Given the description of an element on the screen output the (x, y) to click on. 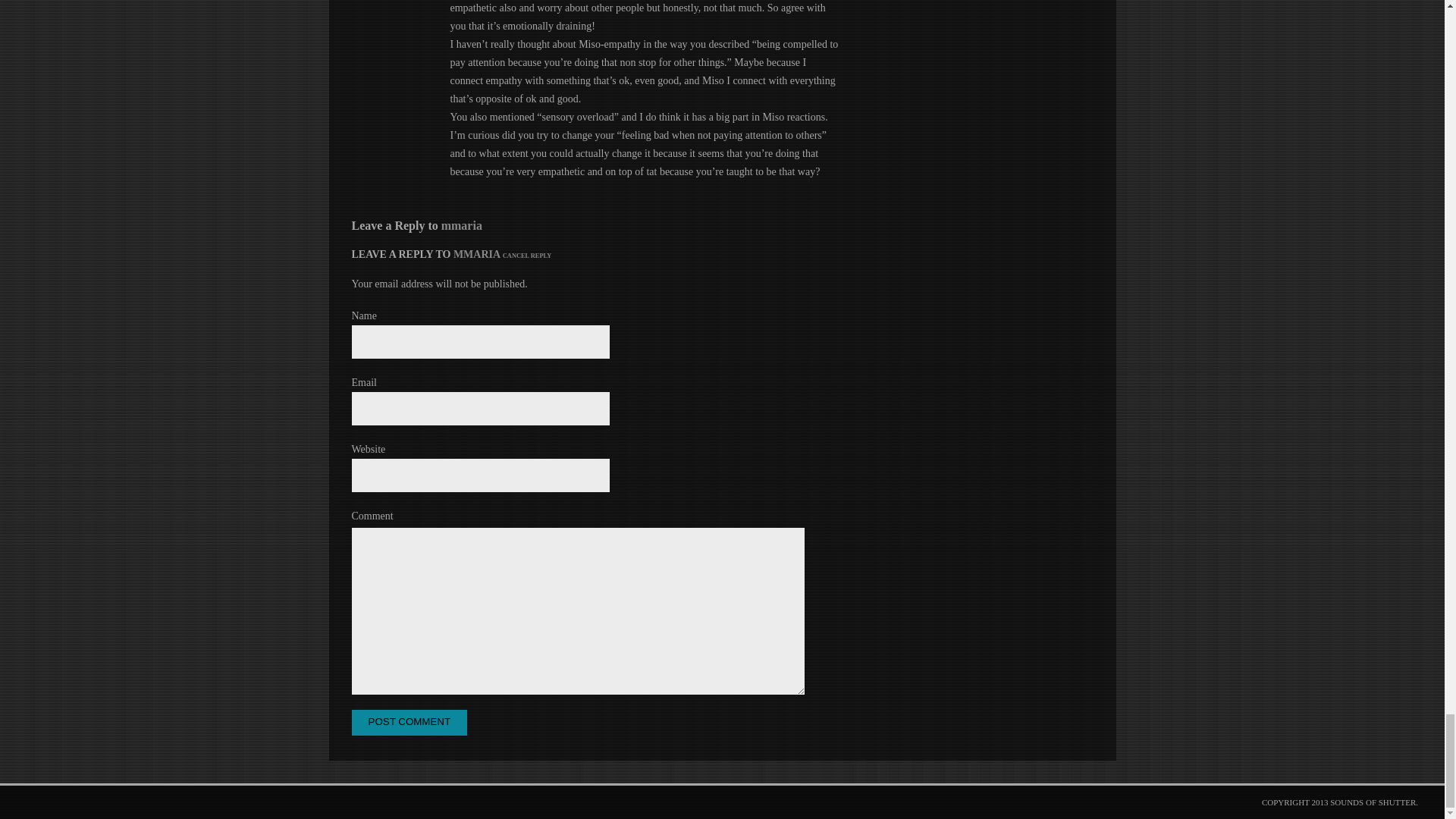
Post Comment (409, 722)
